Given the description of an element on the screen output the (x, y) to click on. 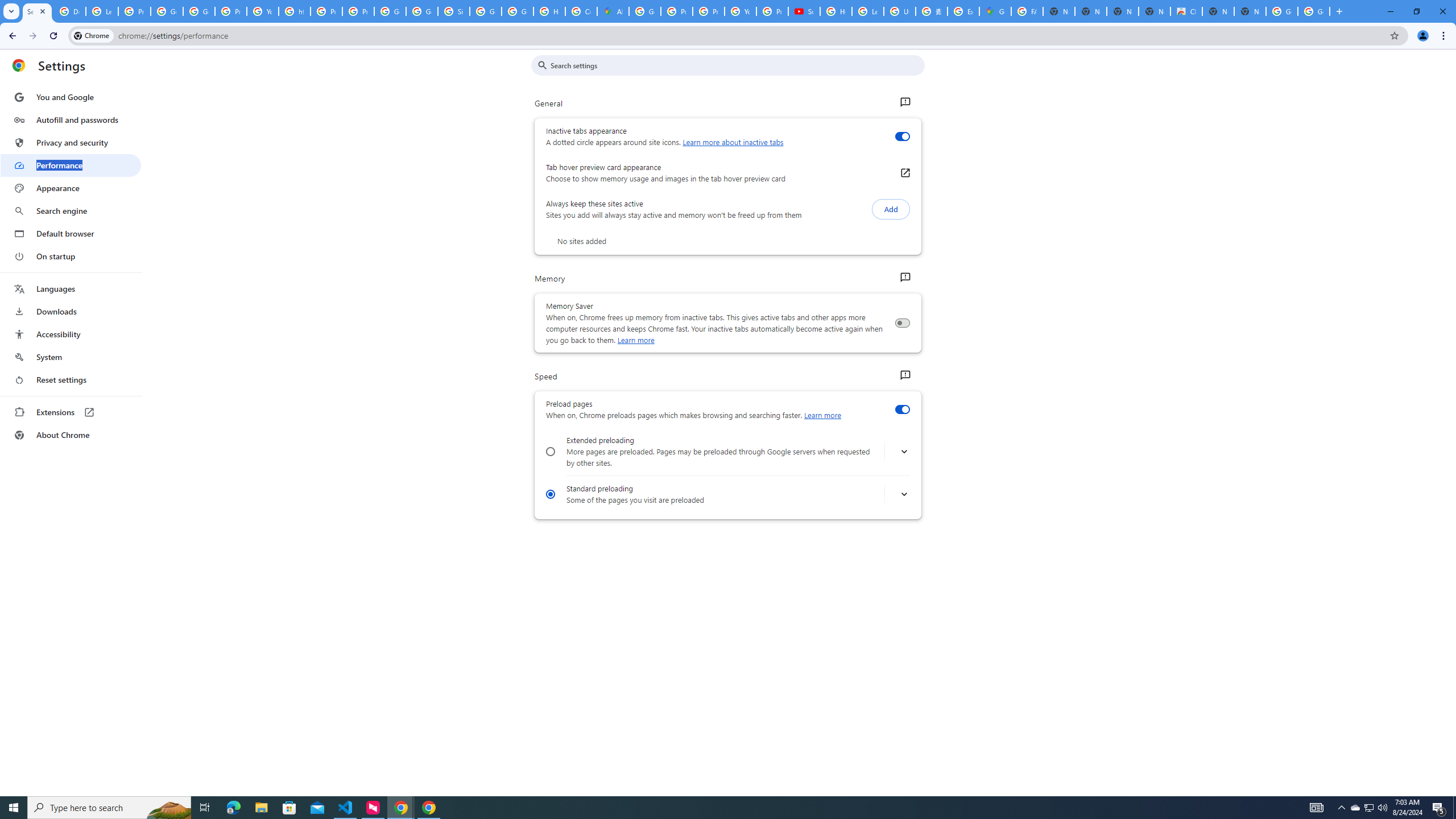
About Chrome (70, 434)
Appearance (70, 187)
Preload pages (901, 409)
Google Maps (995, 11)
Delete photos & videos - Computer - Google Photos Help (69, 11)
New Tab (1249, 11)
Extended preloading (550, 452)
